Given the description of an element on the screen output the (x, y) to click on. 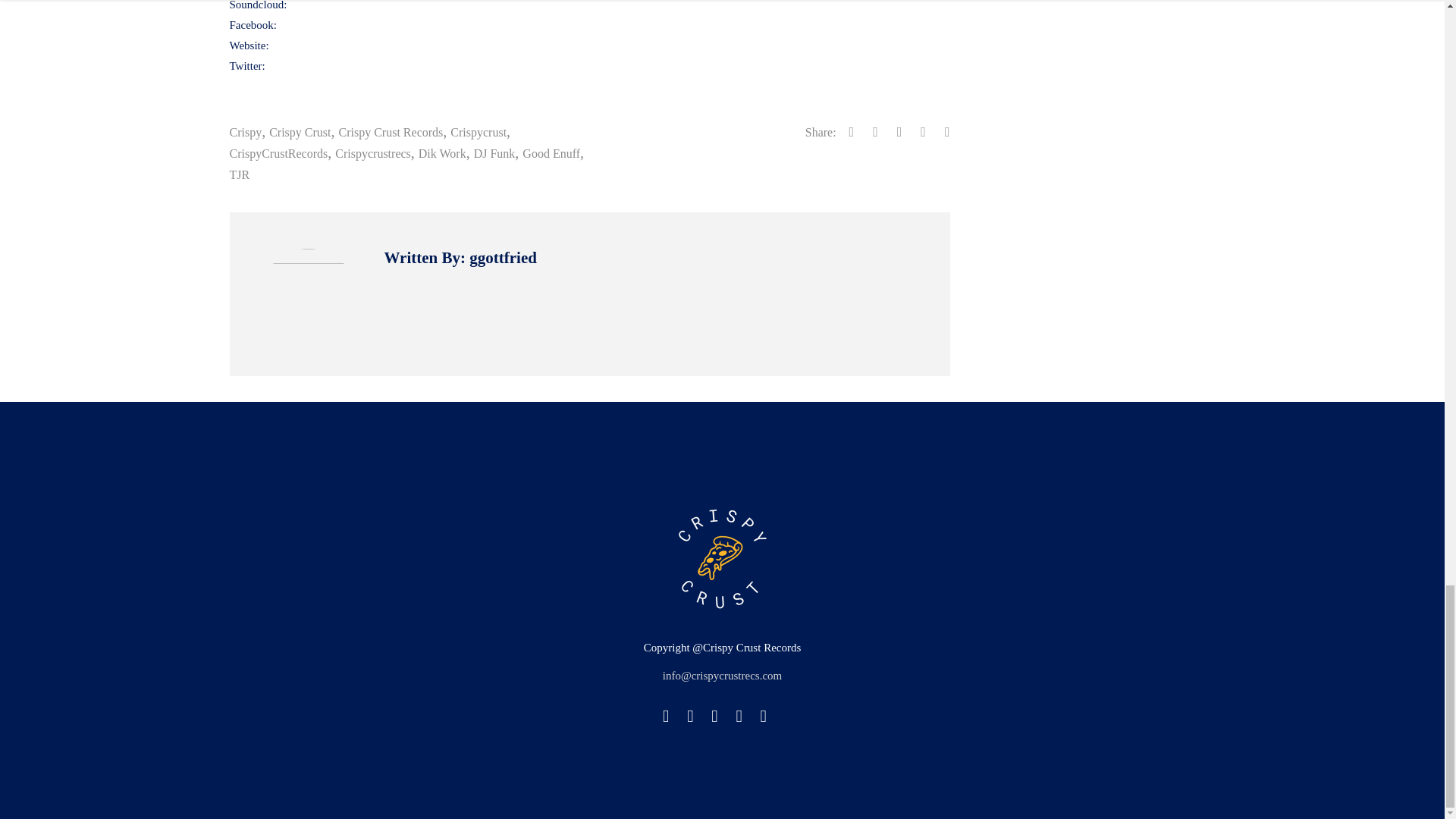
CrispyCrustRecords (277, 153)
goodenuff.com (305, 45)
Crispy (245, 132)
Dik Work (442, 153)
TJR (238, 174)
Crispy Crust (299, 132)
Good Enuff (550, 153)
Crispycrust (477, 132)
DJ Funk (494, 153)
Crispy Crust Records (391, 132)
Crispycrustrecs (372, 153)
